Given the description of an element on the screen output the (x, y) to click on. 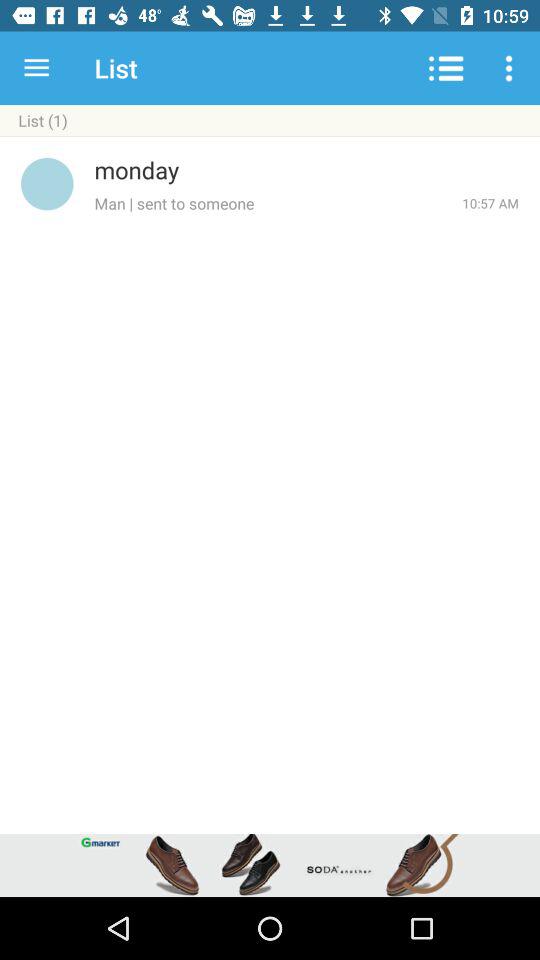
launch icon next to the man sent to (490, 203)
